Given the description of an element on the screen output the (x, y) to click on. 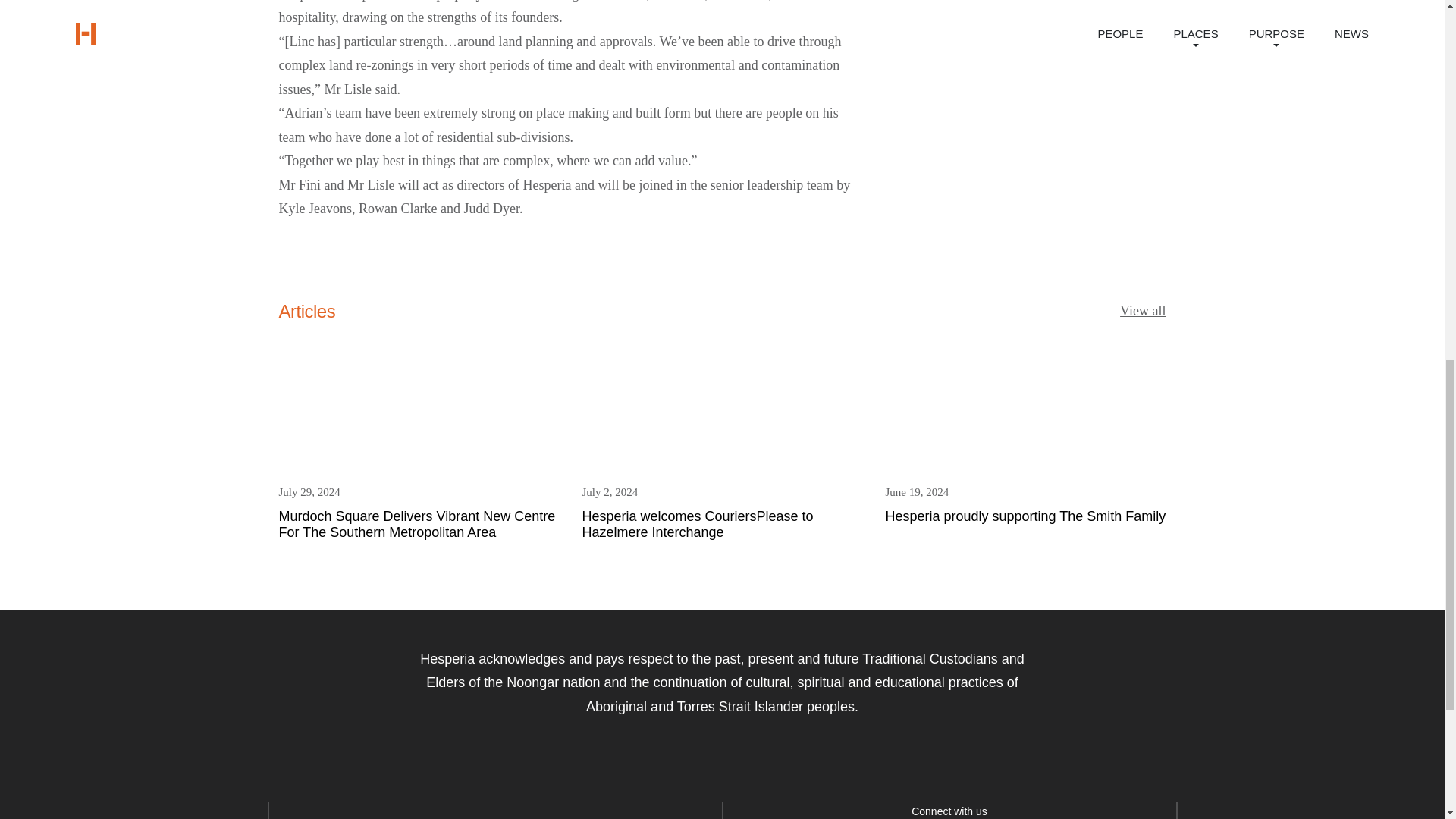
View all (1025, 435)
